Given the description of an element on the screen output the (x, y) to click on. 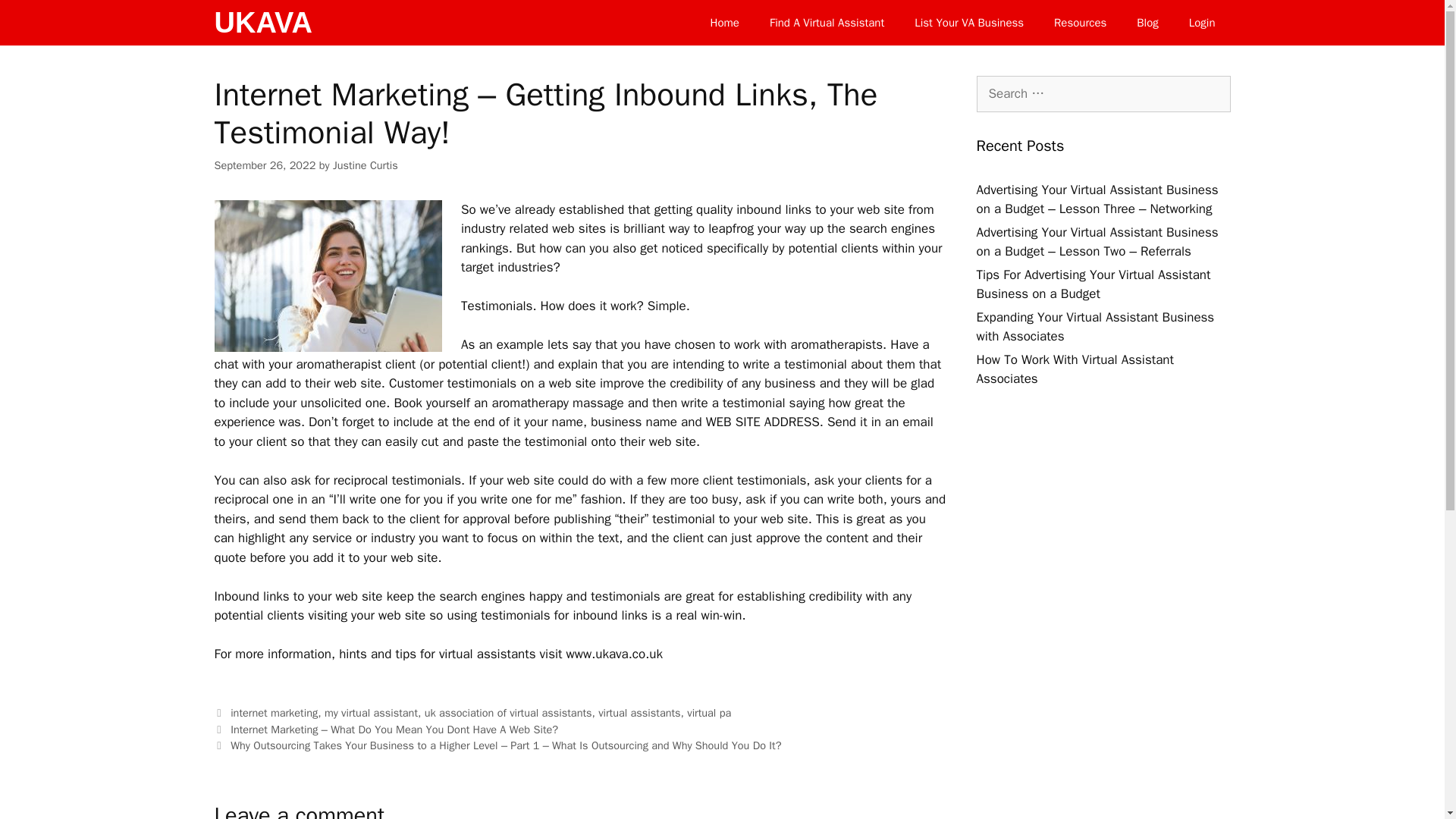
Login (1201, 22)
virtual assistants (638, 712)
www.ukava.co.uk (614, 653)
Blog (1147, 22)
internet marketing (273, 712)
my virtual assistant (370, 712)
Find A Virtual Assistant (826, 22)
Expanding Your Virtual Assistant Business with Associates (1095, 326)
virtual pa (708, 712)
Home (724, 22)
